Given the description of an element on the screen output the (x, y) to click on. 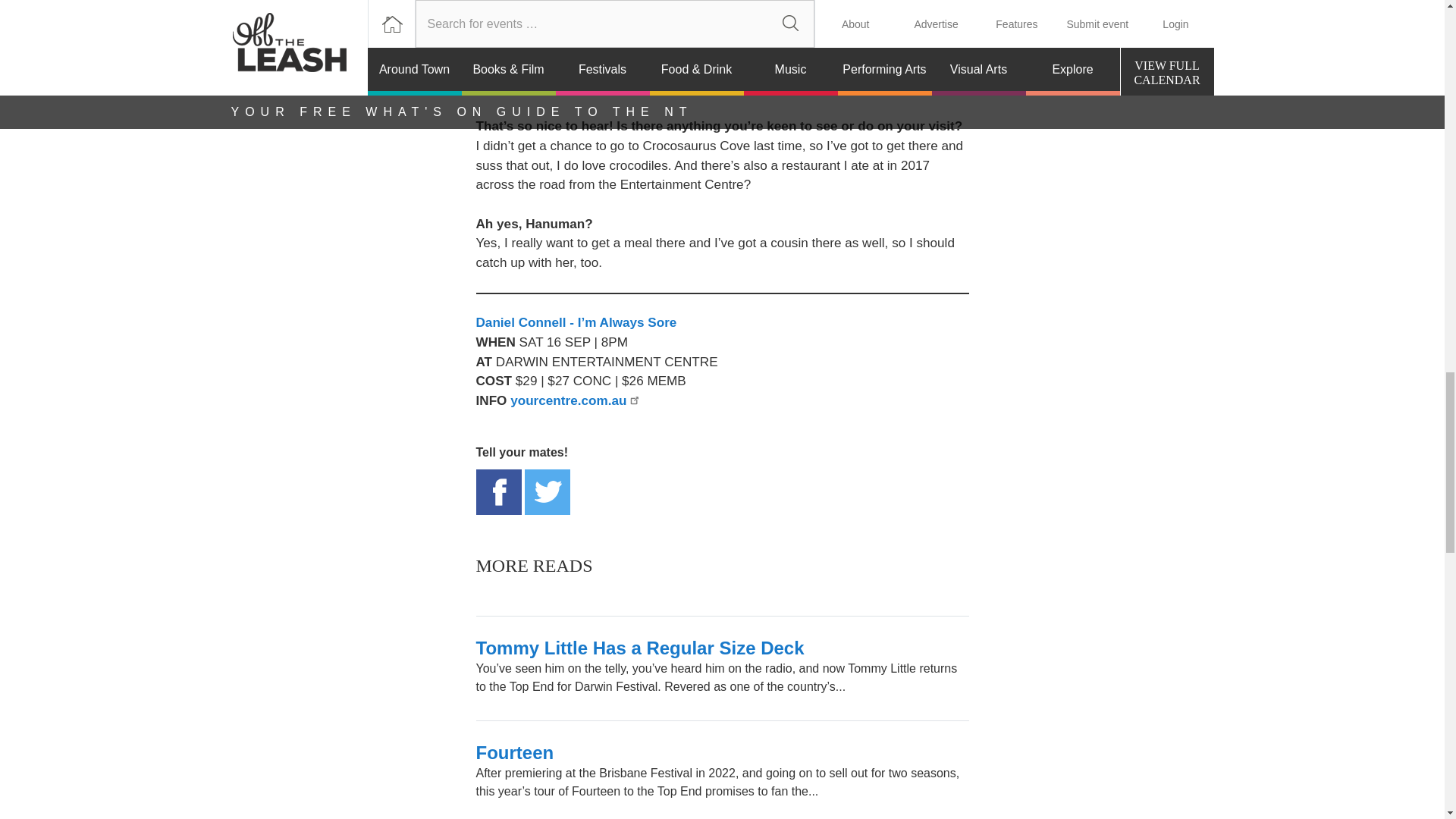
Share on Facebook (498, 492)
Tweet this on twitter (547, 492)
yourcentre.com.au (575, 400)
Fourteen (515, 752)
Tommy Little Has a Regular Size Deck (640, 648)
